Given the description of an element on the screen output the (x, y) to click on. 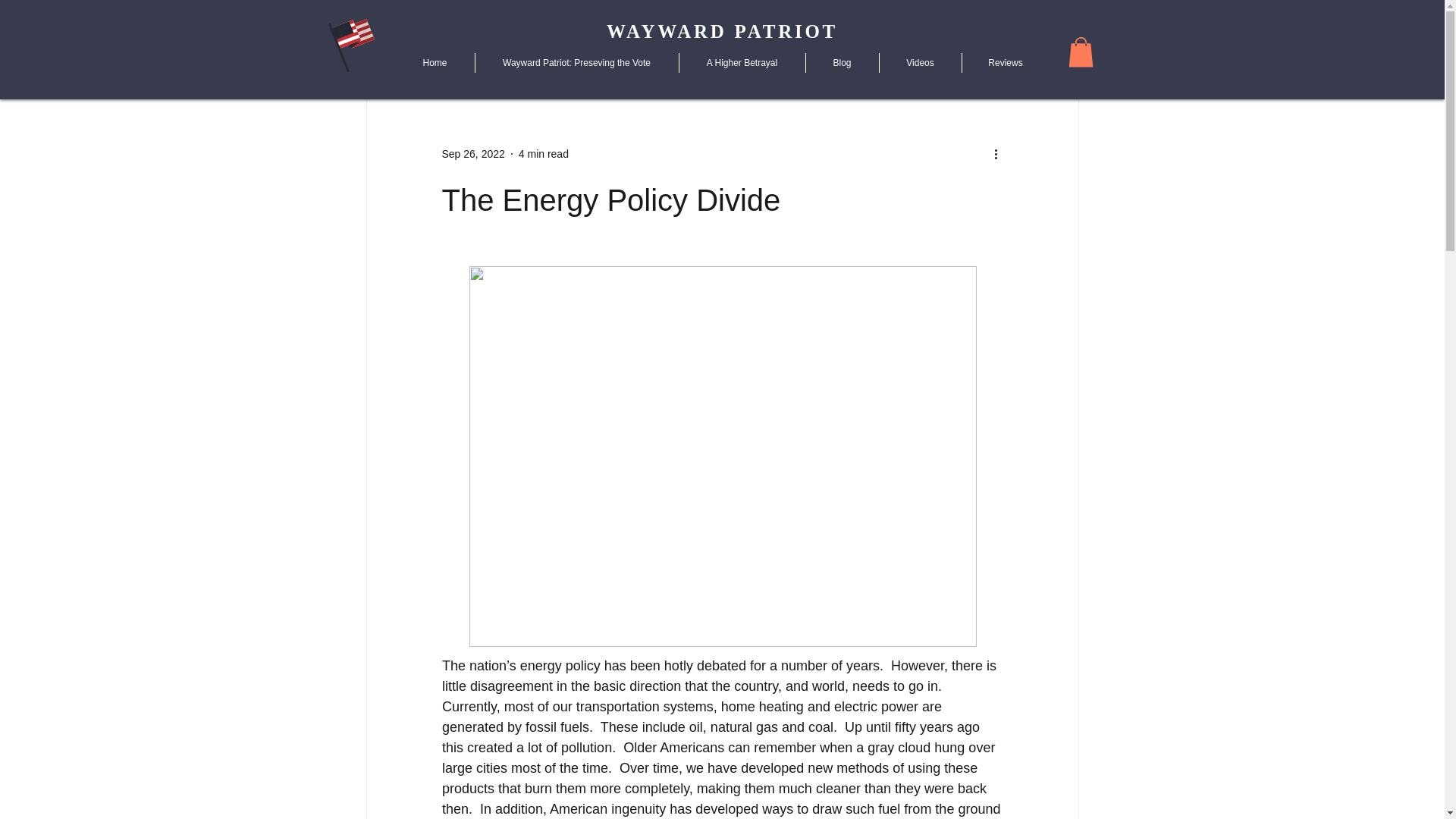
Wayward Patriot: Preseving the Vote (576, 62)
4 min read (543, 152)
Videos (918, 62)
A Higher Betrayal (741, 62)
Home (435, 62)
Sep 26, 2022 (472, 152)
WAYWARD PATRIOT (722, 31)
Blog (842, 62)
JACK MEYER (323, 145)
Reviews (1004, 62)
